Given the description of an element on the screen output the (x, y) to click on. 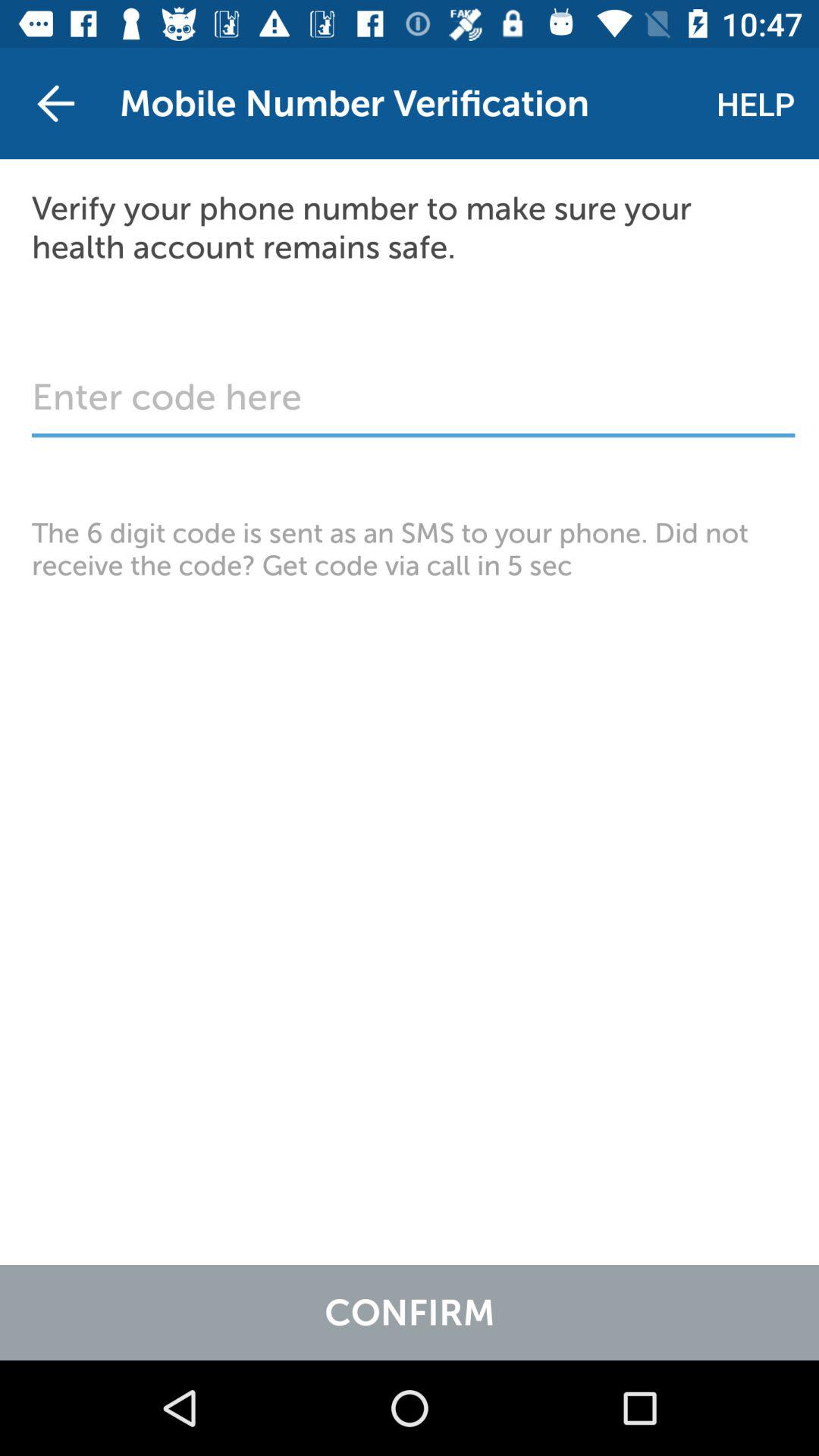
enter six digit code (413, 404)
